Given the description of an element on the screen output the (x, y) to click on. 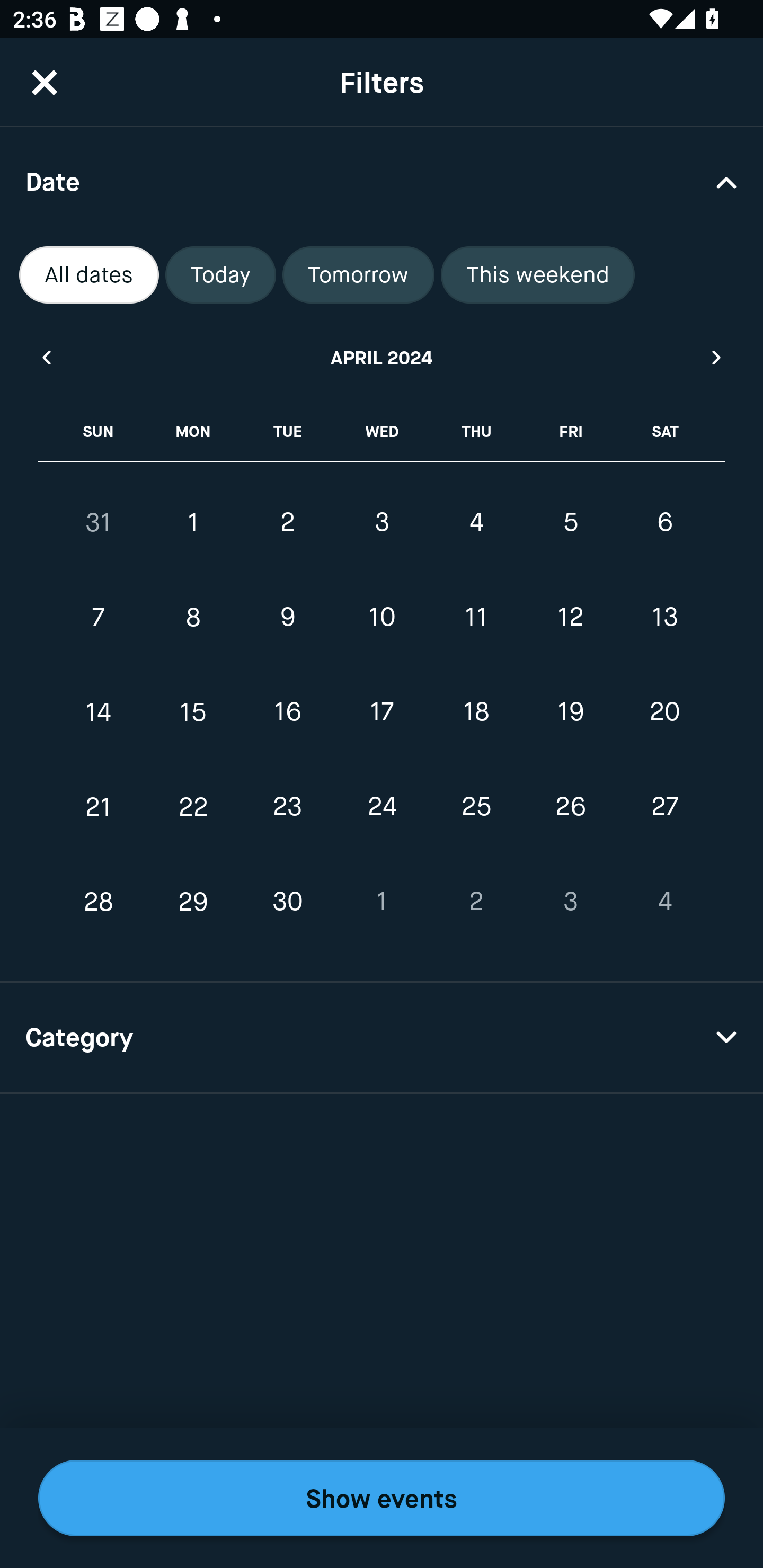
CloseButton (44, 82)
Date Drop Down Arrow (381, 181)
All dates (88, 274)
Today (220, 274)
Tomorrow (358, 274)
This weekend (537, 274)
Previous (45, 357)
Next (717, 357)
31 (98, 522)
1 (192, 522)
2 (287, 522)
3 (381, 522)
4 (475, 522)
5 (570, 522)
6 (664, 522)
7 (98, 617)
8 (192, 617)
9 (287, 617)
10 (381, 617)
11 (475, 617)
12 (570, 617)
13 (664, 617)
14 (98, 711)
15 (192, 711)
16 (287, 711)
17 (381, 711)
18 (475, 711)
19 (570, 711)
20 (664, 711)
21 (98, 806)
22 (192, 806)
23 (287, 806)
24 (381, 806)
25 (475, 806)
26 (570, 806)
27 (664, 806)
28 (98, 901)
29 (192, 901)
30 (287, 901)
1 (381, 901)
2 (475, 901)
3 (570, 901)
4 (664, 901)
Category Drop Down Arrow (381, 1038)
Show events (381, 1497)
